Given the description of an element on the screen output the (x, y) to click on. 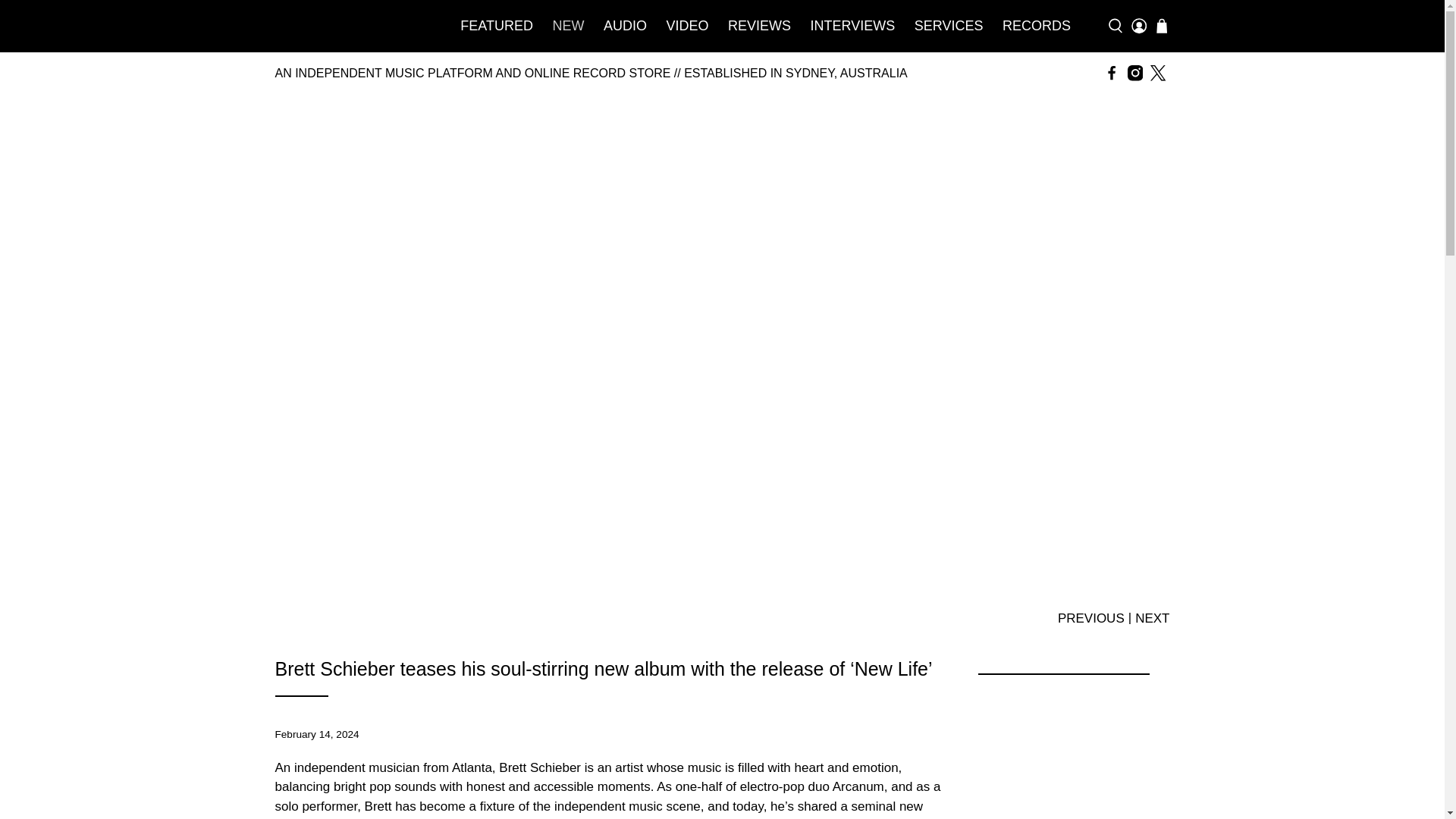
BROKEN 8 RECORDS on Facebook (1111, 72)
BROKEN 8 RECORDS on Instagram (1134, 72)
RECORDS (1036, 26)
Previous (1091, 617)
FEATURED (497, 26)
NEXT (1152, 617)
NEW (568, 26)
VIDEO (687, 26)
PREVIOUS (1091, 617)
BROKEN 8 RECORDS on X (1158, 72)
BROKEN 8 RECORDS (349, 26)
AUDIO (625, 26)
INTERVIEWS (852, 26)
SERVICES (948, 26)
Next (1152, 617)
